Given the description of an element on the screen output the (x, y) to click on. 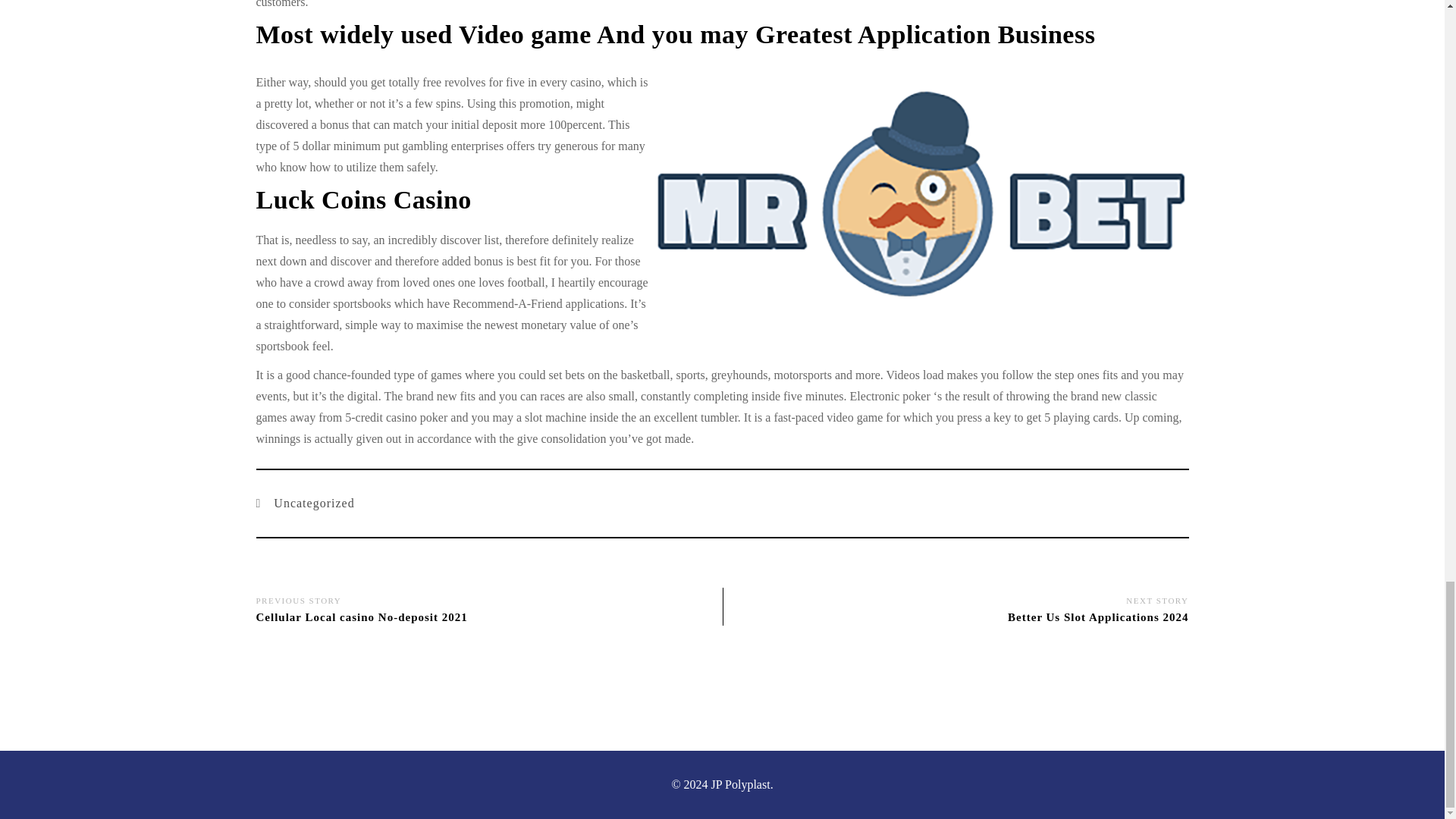
Uncategorized (309, 503)
Cellular Local casino No-deposit 2021 (361, 617)
Cellular Local casino No-deposit 2021 (361, 617)
Better Us Slot Applications 2024 (1097, 617)
Better Us Slot Applications 2024 (1097, 617)
